Given the description of an element on the screen output the (x, y) to click on. 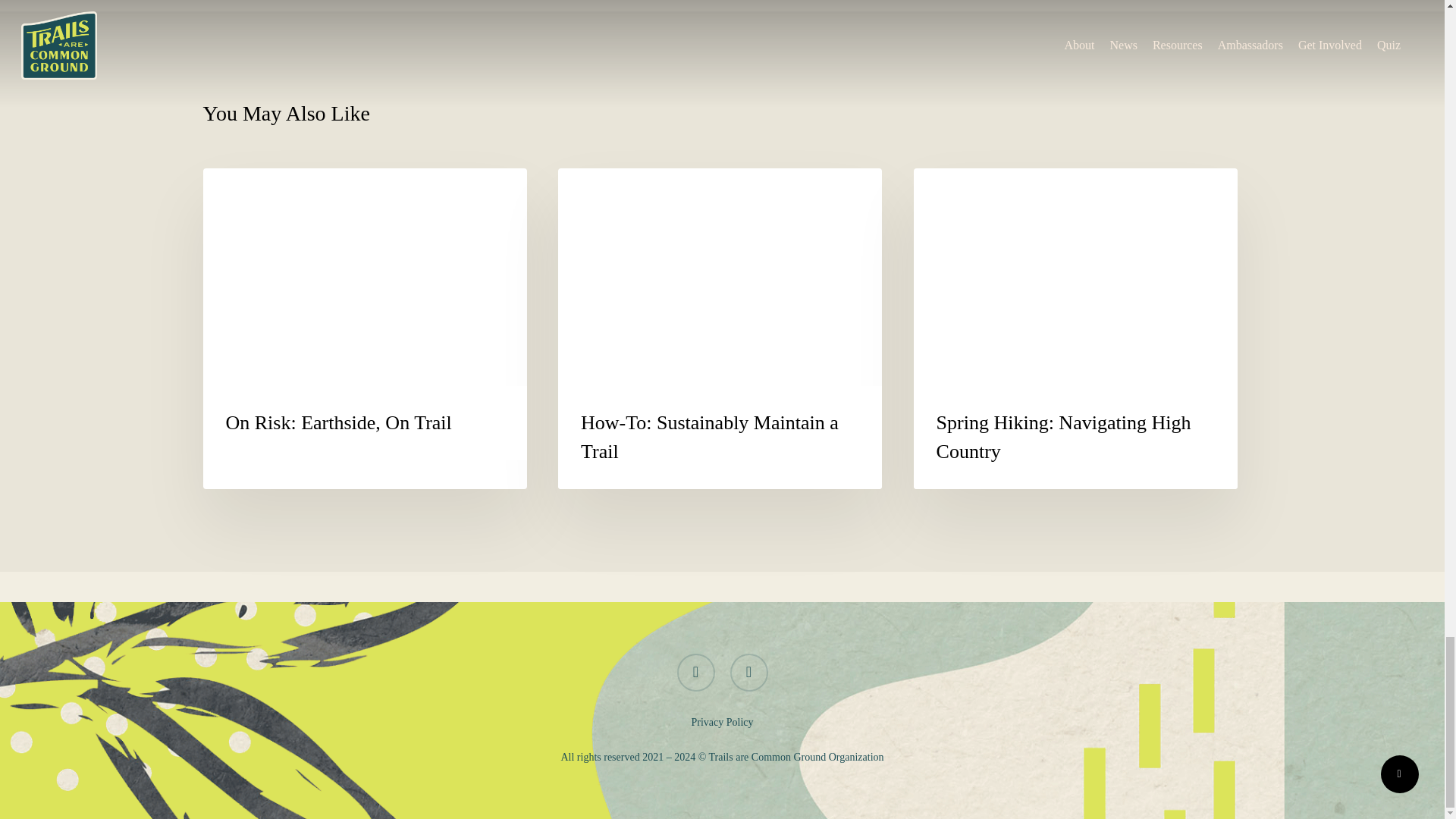
TIPS (598, 192)
ACCESS (966, 192)
INCLUSIVITY (275, 192)
